Given the description of an element on the screen output the (x, y) to click on. 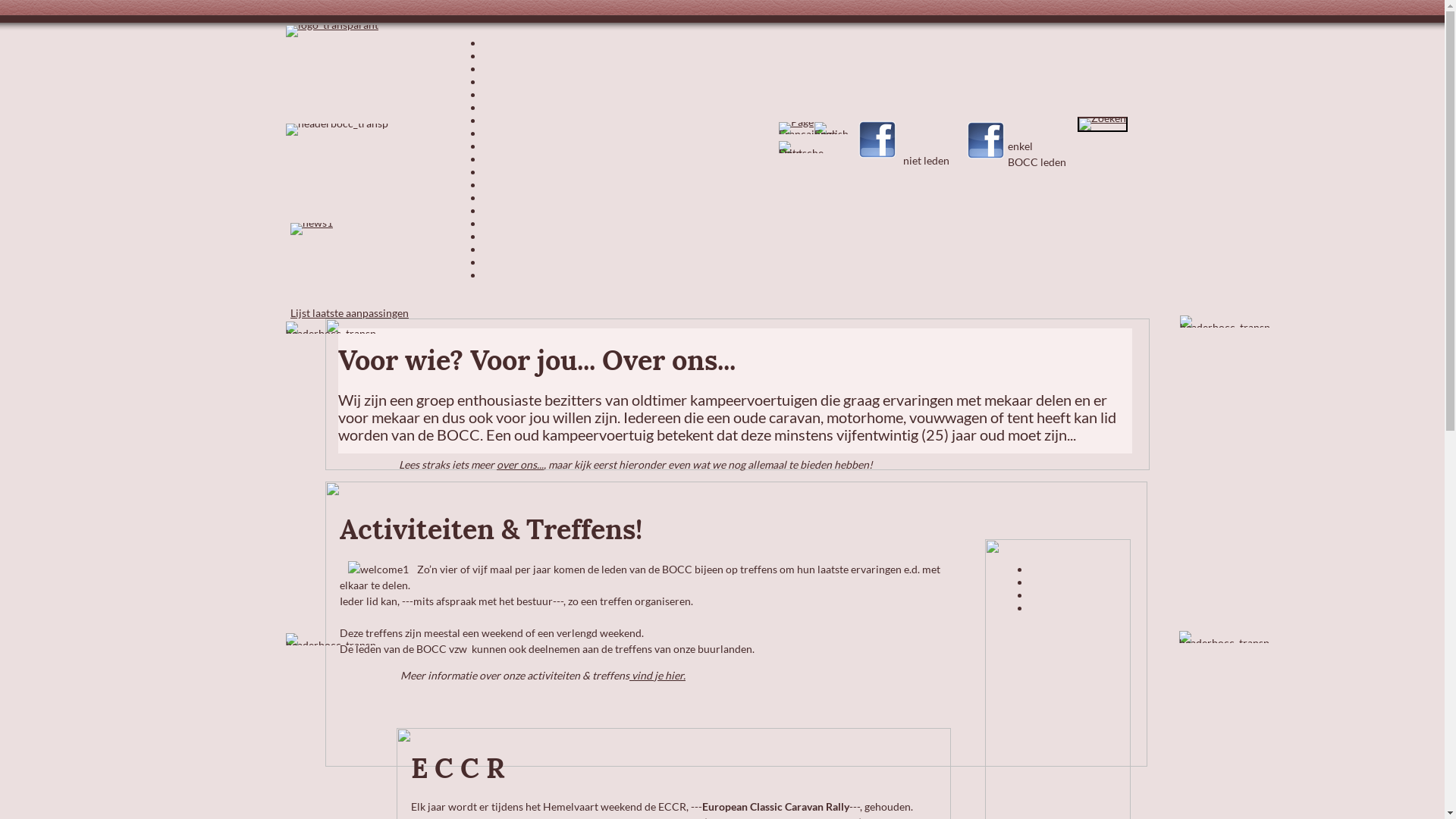
Zoeken Element type: hover (1102, 123)
headerbocc_transp Element type: hover (330, 327)
headerbocc_transp Element type: hover (1224, 636)
headerbocc_transp Element type: hover (1224, 321)
news1 Element type: hover (311, 228)
vind je hier. Element type: text (657, 674)
Lijst laatste aanpassingen Element type: text (349, 312)
over ons... Element type: text (519, 464)
FB BOCC niet leden Element type: hover (877, 139)
Deutsche Seite Element type: hover (800, 147)
welcome1 Element type: hover (378, 569)
logo_transparant Element type: hover (331, 31)
headerbocc_transp Element type: hover (336, 129)
headerbocc_transp Element type: hover (330, 639)
English page Element type: hover (831, 128)
FB BOCC leden Element type: hover (985, 140)
